Given the description of an element on the screen output the (x, y) to click on. 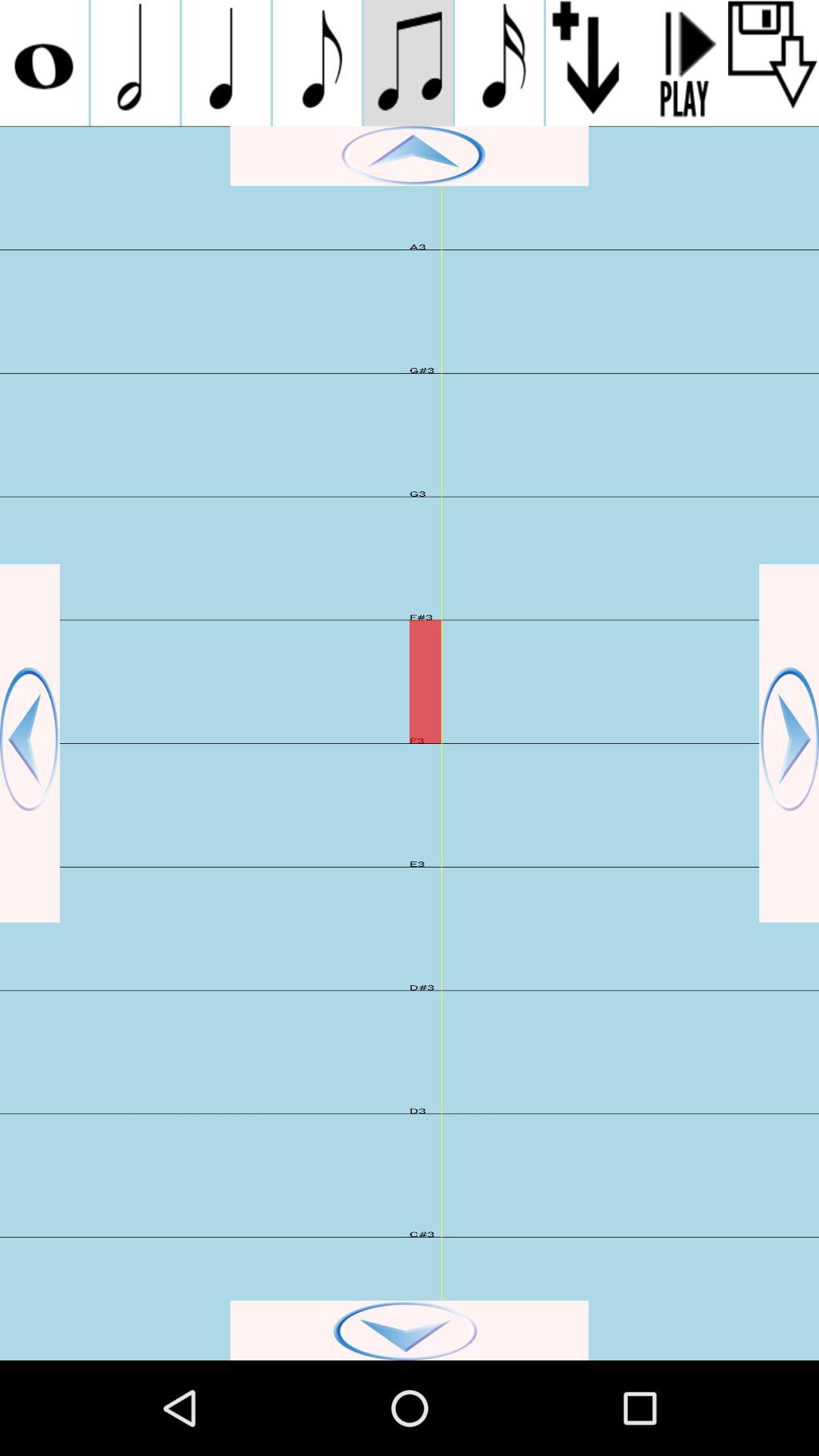
download song (591, 63)
